Given the description of an element on the screen output the (x, y) to click on. 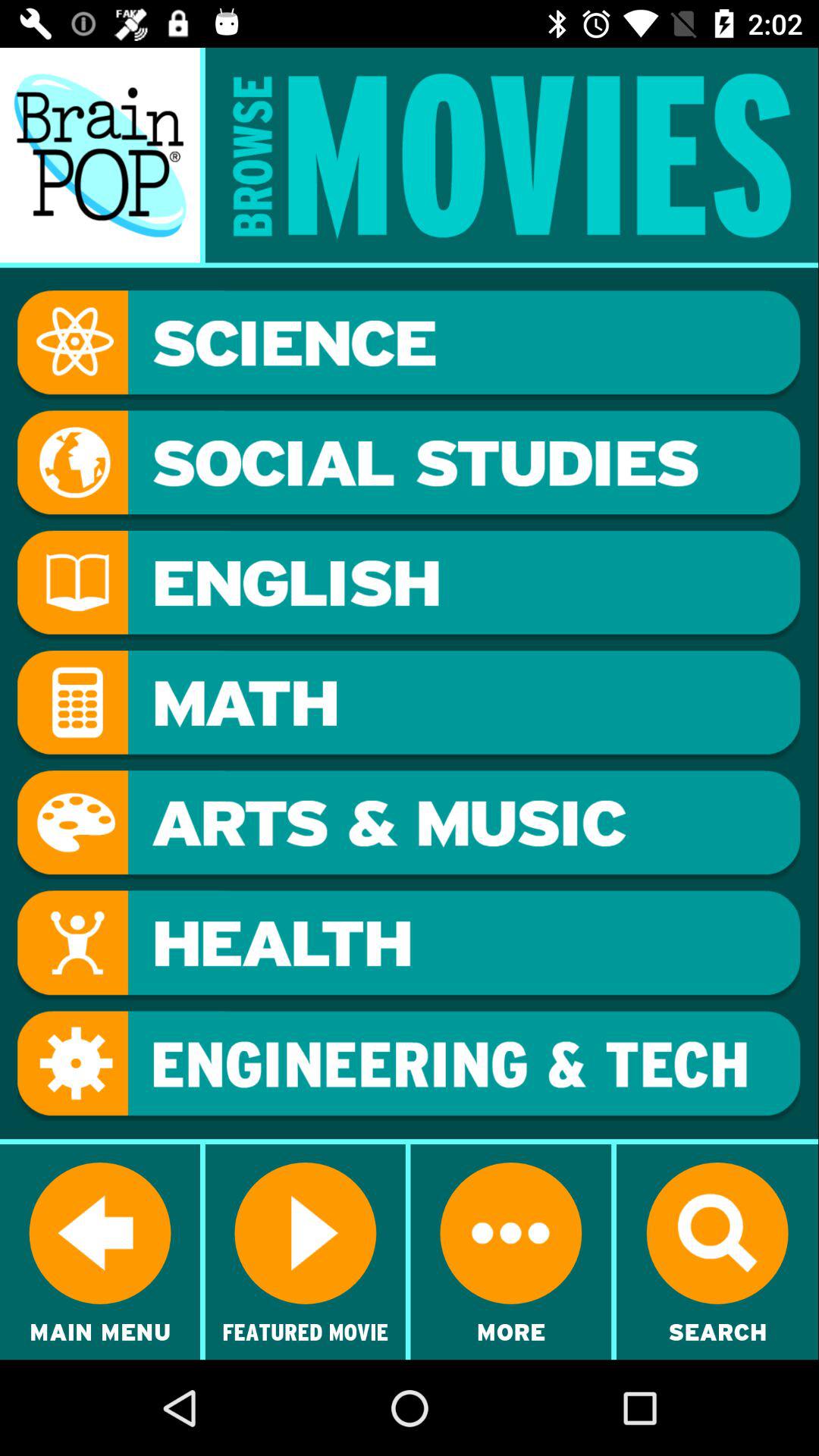
browse math (408, 704)
